Given the description of an element on the screen output the (x, y) to click on. 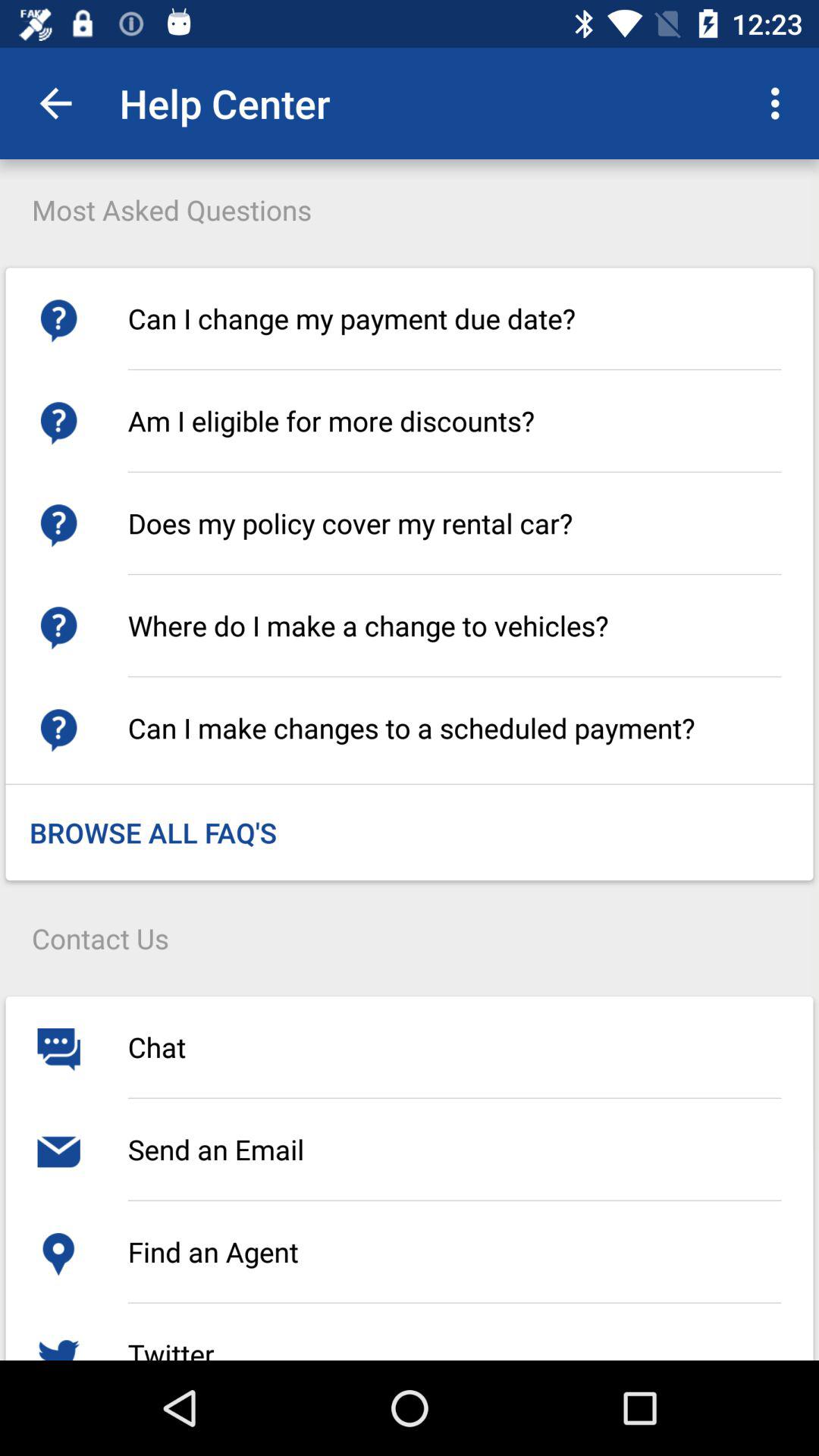
launch the icon to the right of the most asked questions item (779, 103)
